Given the description of an element on the screen output the (x, y) to click on. 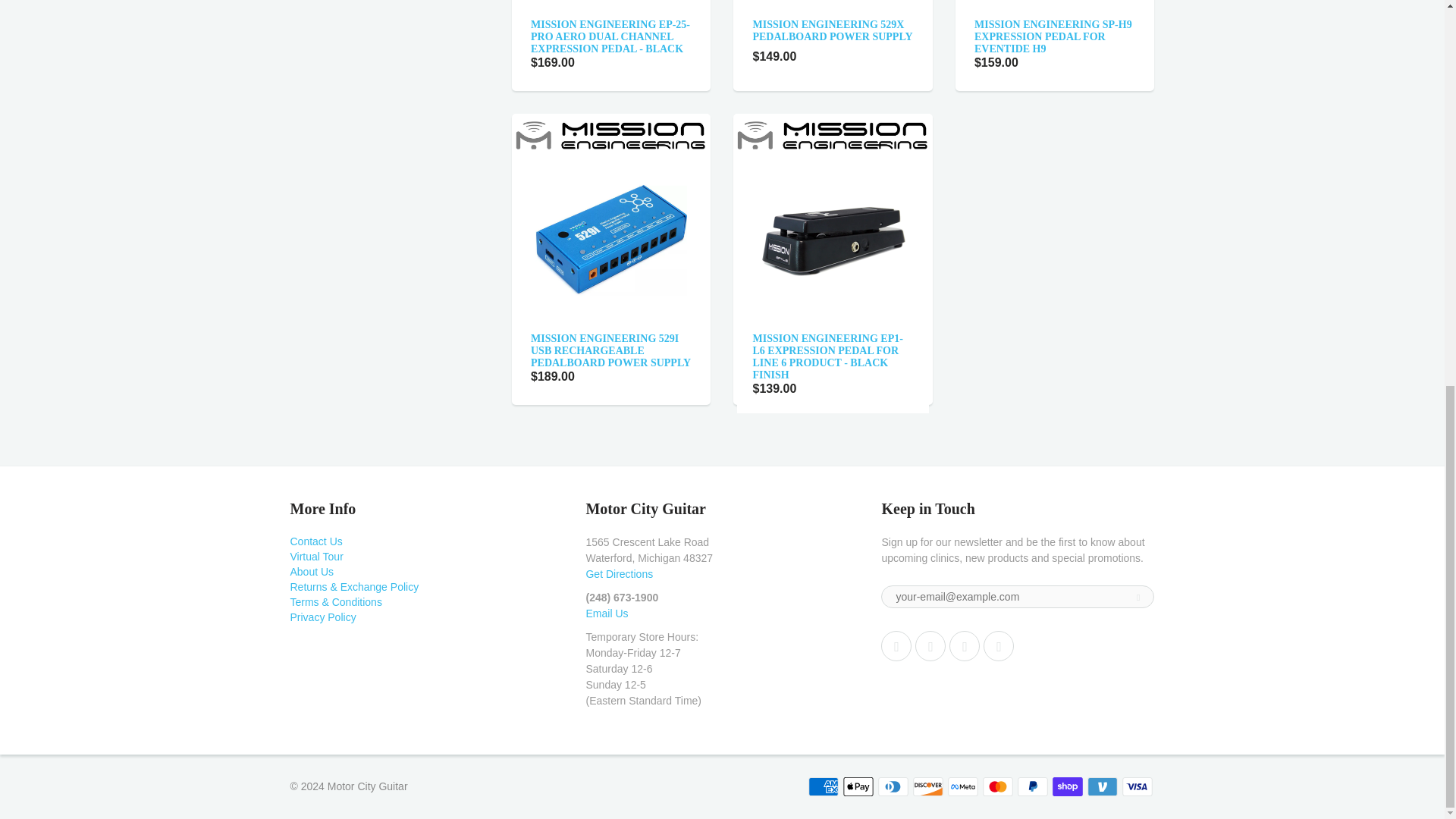
Twitter (895, 645)
Facebook (929, 645)
